Given the description of an element on the screen output the (x, y) to click on. 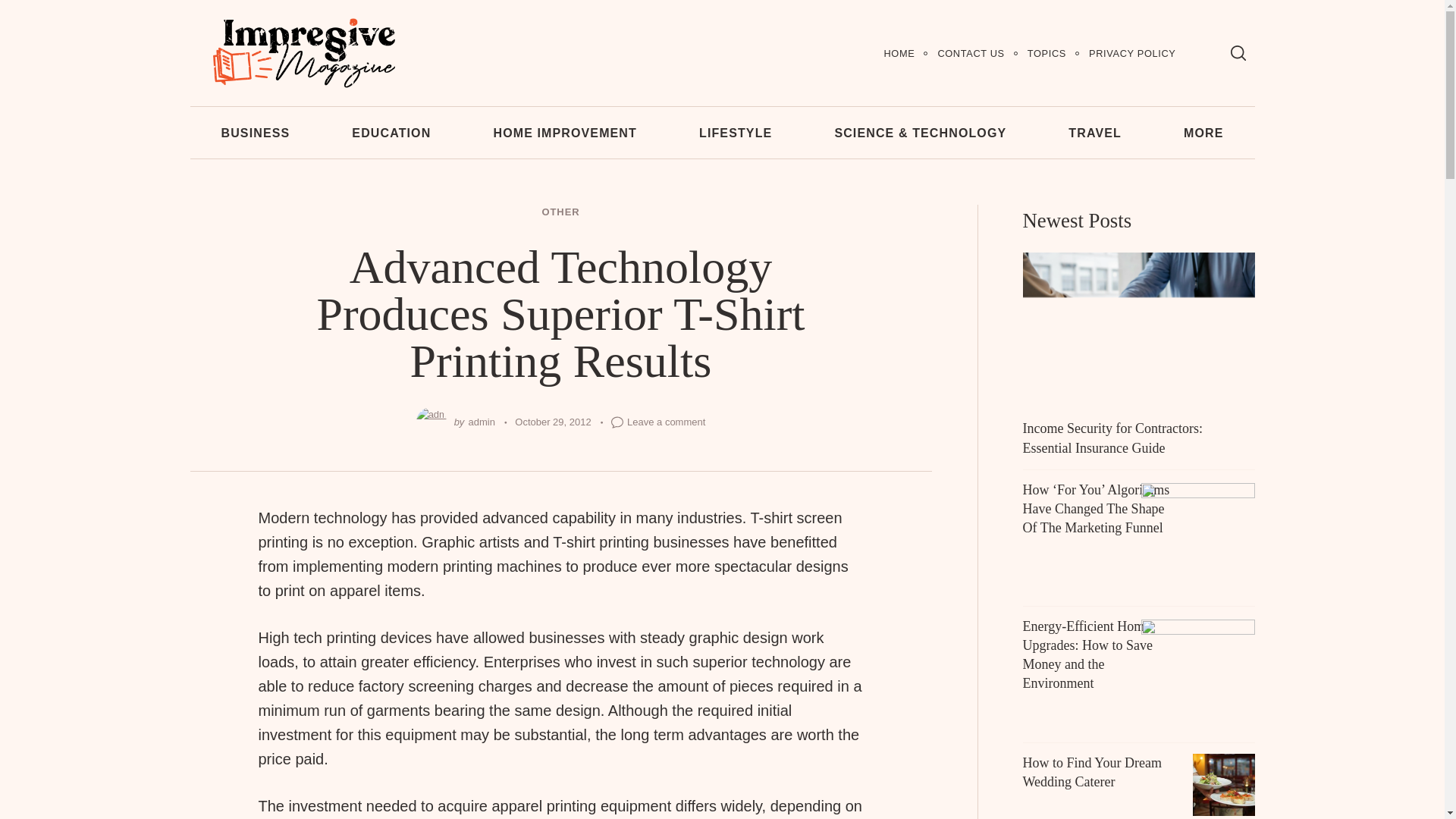
EDUCATION (390, 132)
TRAVEL (1094, 132)
LIFESTYLE (735, 132)
PRIVACY POLICY (1131, 52)
HOME IMPROVEMENT (564, 132)
Leave a comment (665, 421)
OTHER (560, 212)
MORE (1204, 132)
admin (481, 421)
BUSINESS (254, 132)
